Given the description of an element on the screen output the (x, y) to click on. 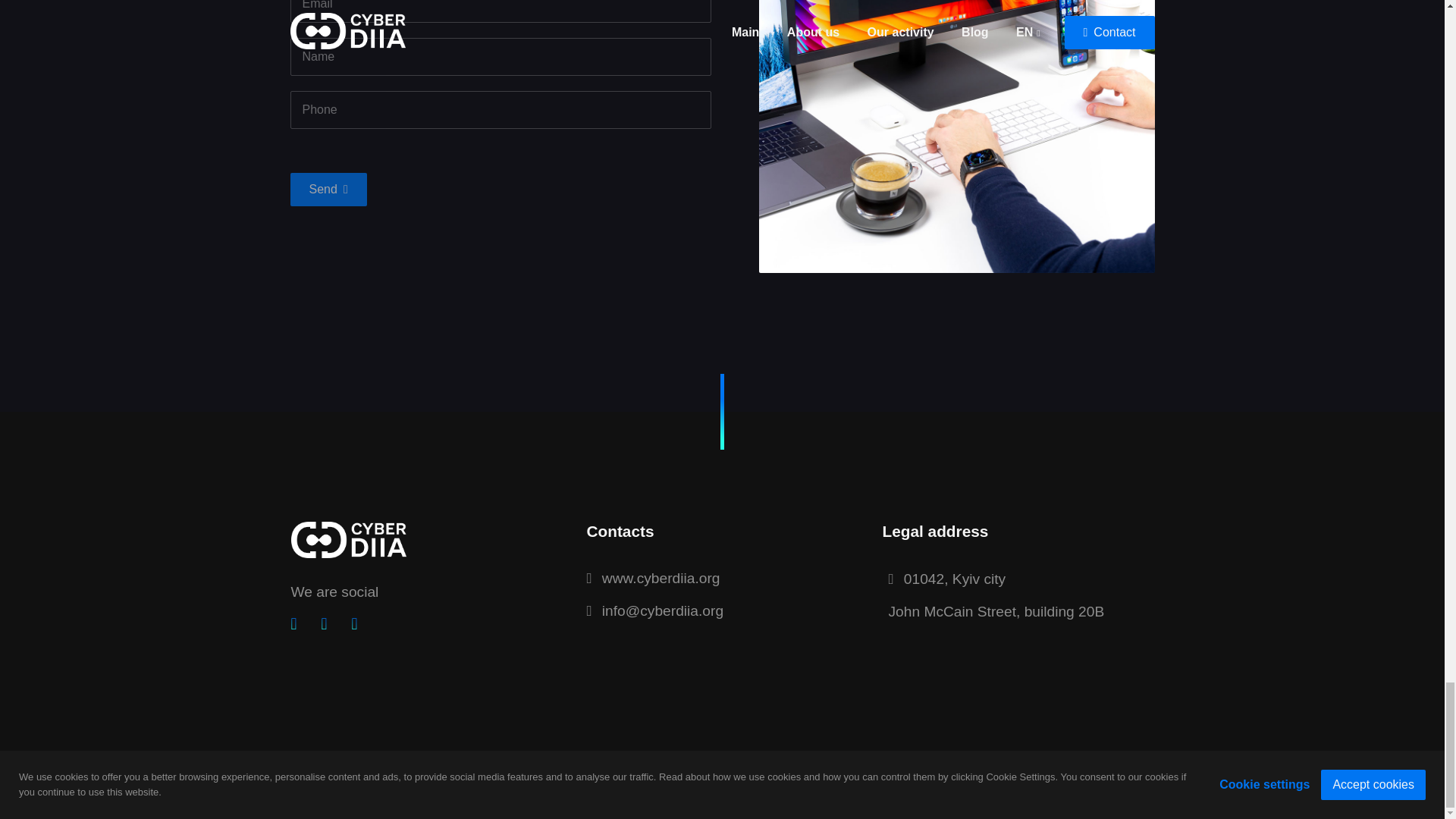
www.cyberdiia.org (721, 578)
Privacy Policy (323, 785)
Send (327, 189)
